Given the description of an element on the screen output the (x, y) to click on. 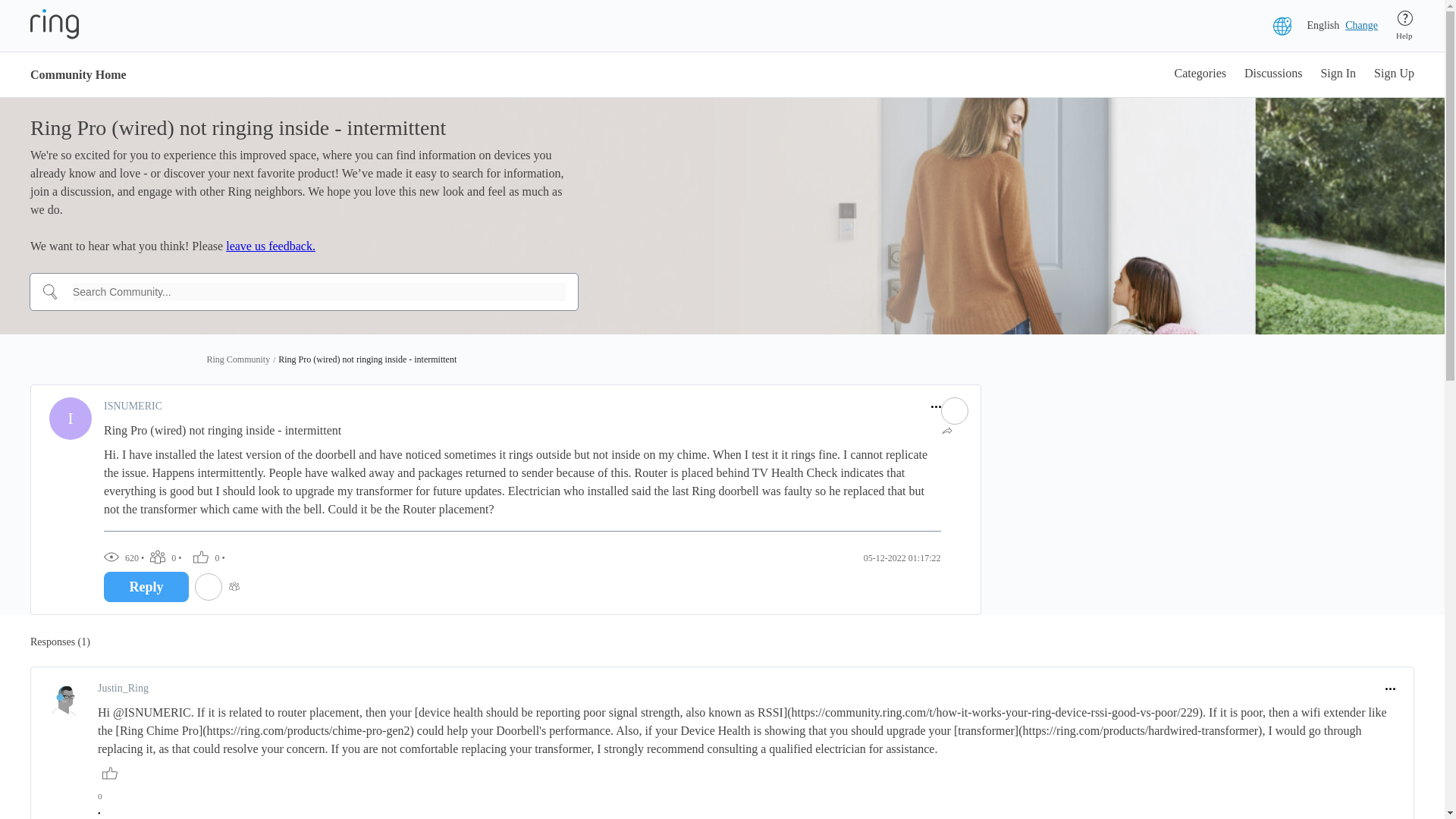
Reply (146, 586)
Ring Community (237, 359)
ISNUMERIC (132, 406)
Change (1361, 25)
Sign Up (1393, 74)
Discussions (1272, 74)
Community Home (78, 74)
Categories (1199, 74)
leave us feedback. (270, 245)
